Given the description of an element on the screen output the (x, y) to click on. 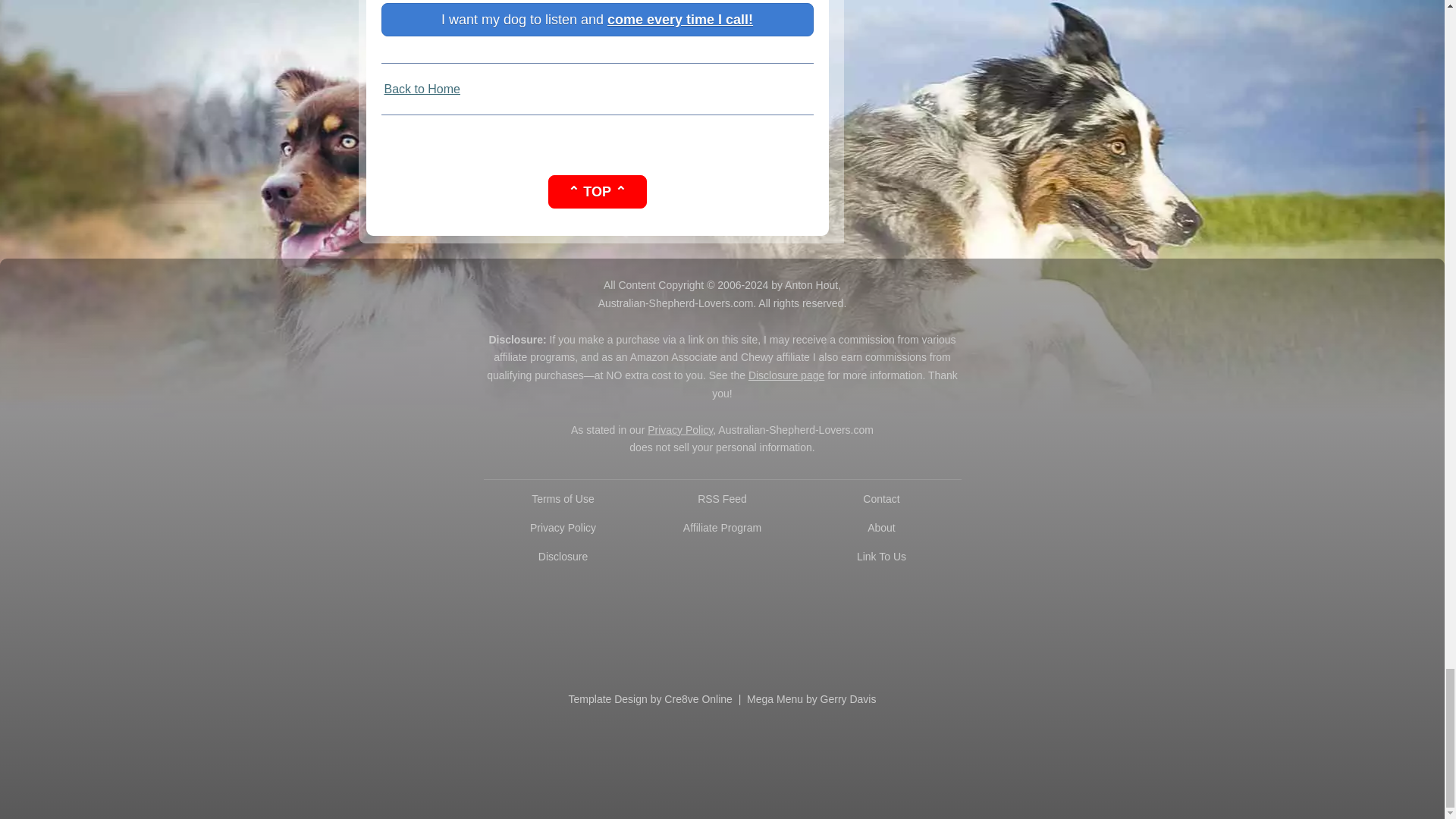
DMCA.com Protection Status (722, 621)
Back to Top (596, 192)
